Given the description of an element on the screen output the (x, y) to click on. 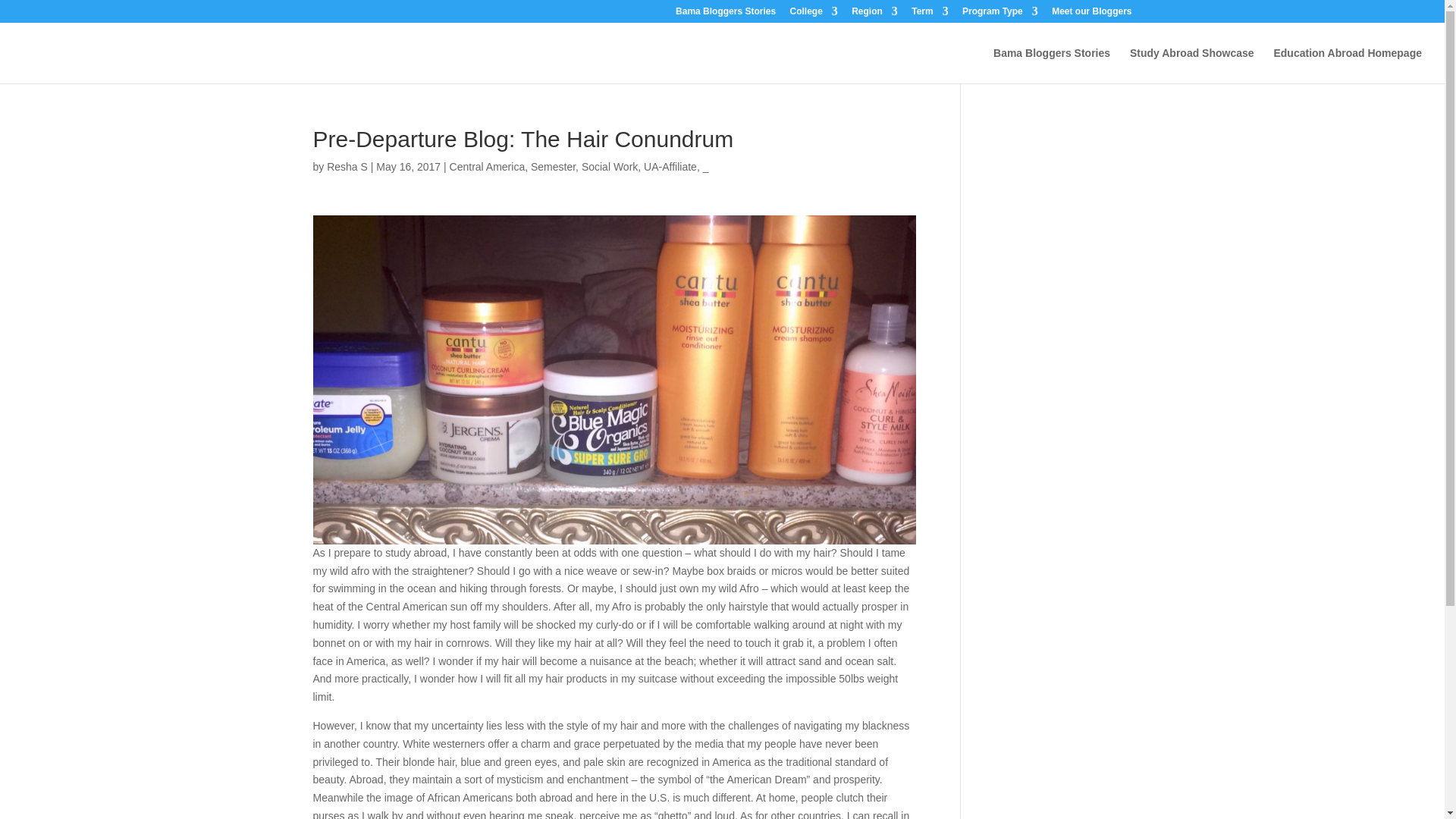
Program Type (1000, 14)
Social Work (608, 166)
Resha S (347, 166)
Bama Bloggers Stories (725, 14)
Study Abroad Showcase (1191, 65)
Region (874, 14)
Meet our Bloggers (1091, 14)
Semester (553, 166)
Posts by Resha S (347, 166)
Bama Bloggers Stories (1050, 65)
